Given the description of an element on the screen output the (x, y) to click on. 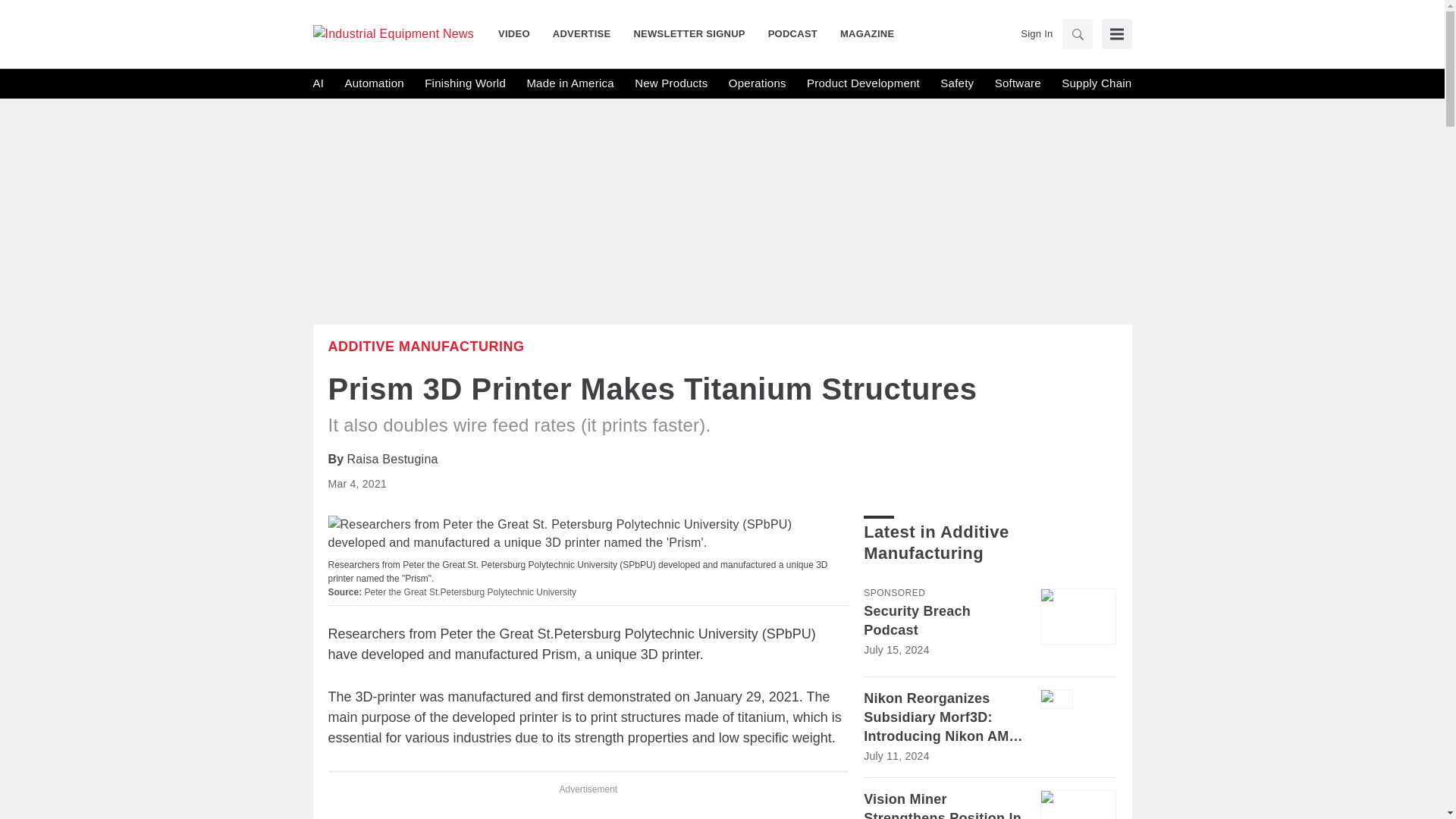
Sign In (1036, 33)
PODCAST (792, 33)
Software (1017, 83)
Sponsored (893, 592)
Supply Chain (1096, 83)
Additive Manufacturing (425, 346)
Product Development (863, 83)
Finishing World (465, 83)
MAGAZINE (860, 33)
VIDEO (519, 33)
Made in America (568, 83)
Operations (757, 83)
Safety (957, 83)
ADVERTISE (582, 33)
New Products (670, 83)
